Given the description of an element on the screen output the (x, y) to click on. 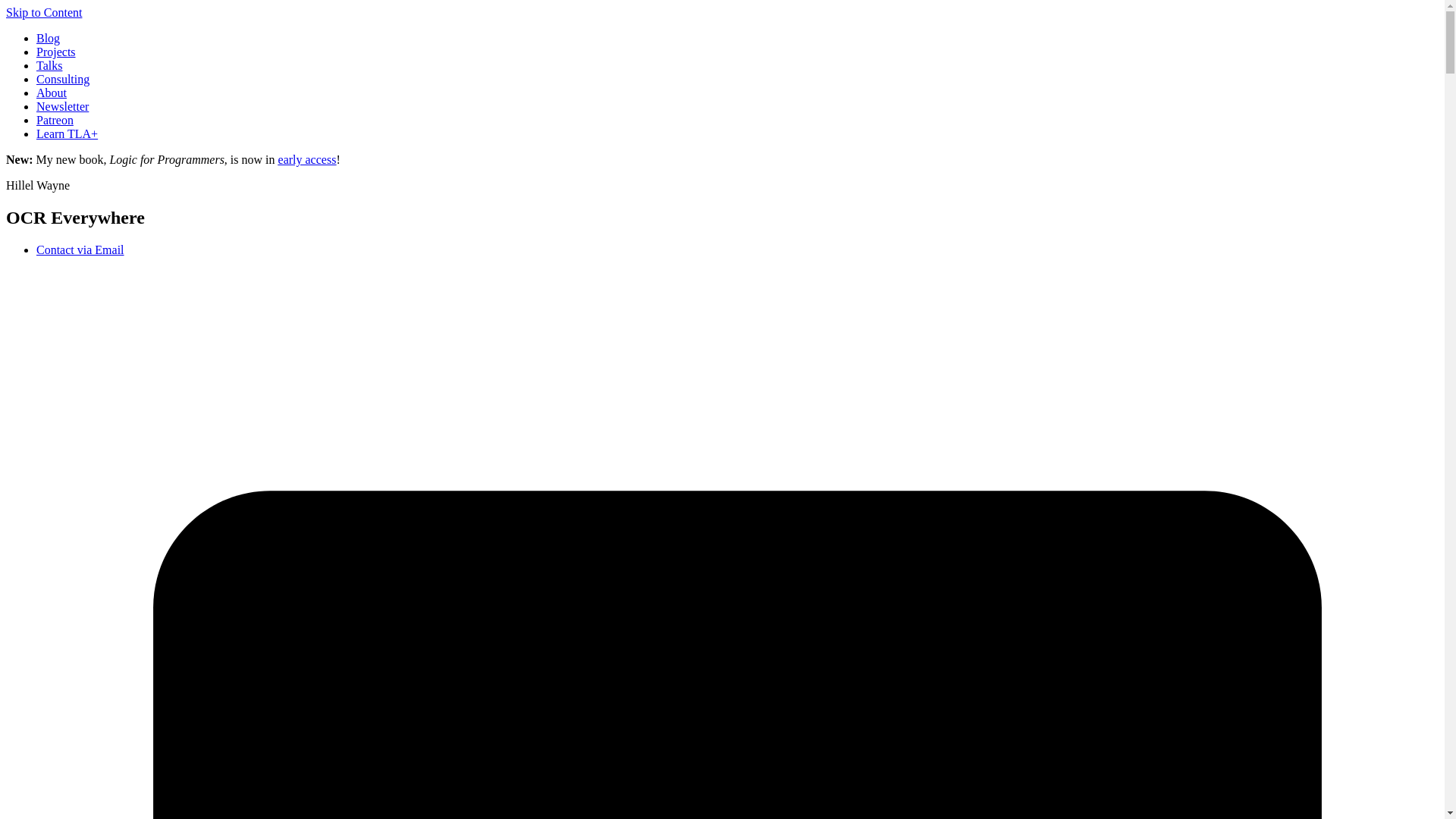
Skip to Content (43, 11)
Newsletter (62, 106)
About (51, 92)
Talks (49, 65)
early access (307, 159)
Blog (47, 38)
Projects (55, 51)
Consulting (62, 78)
Patreon (55, 119)
